Given the description of an element on the screen output the (x, y) to click on. 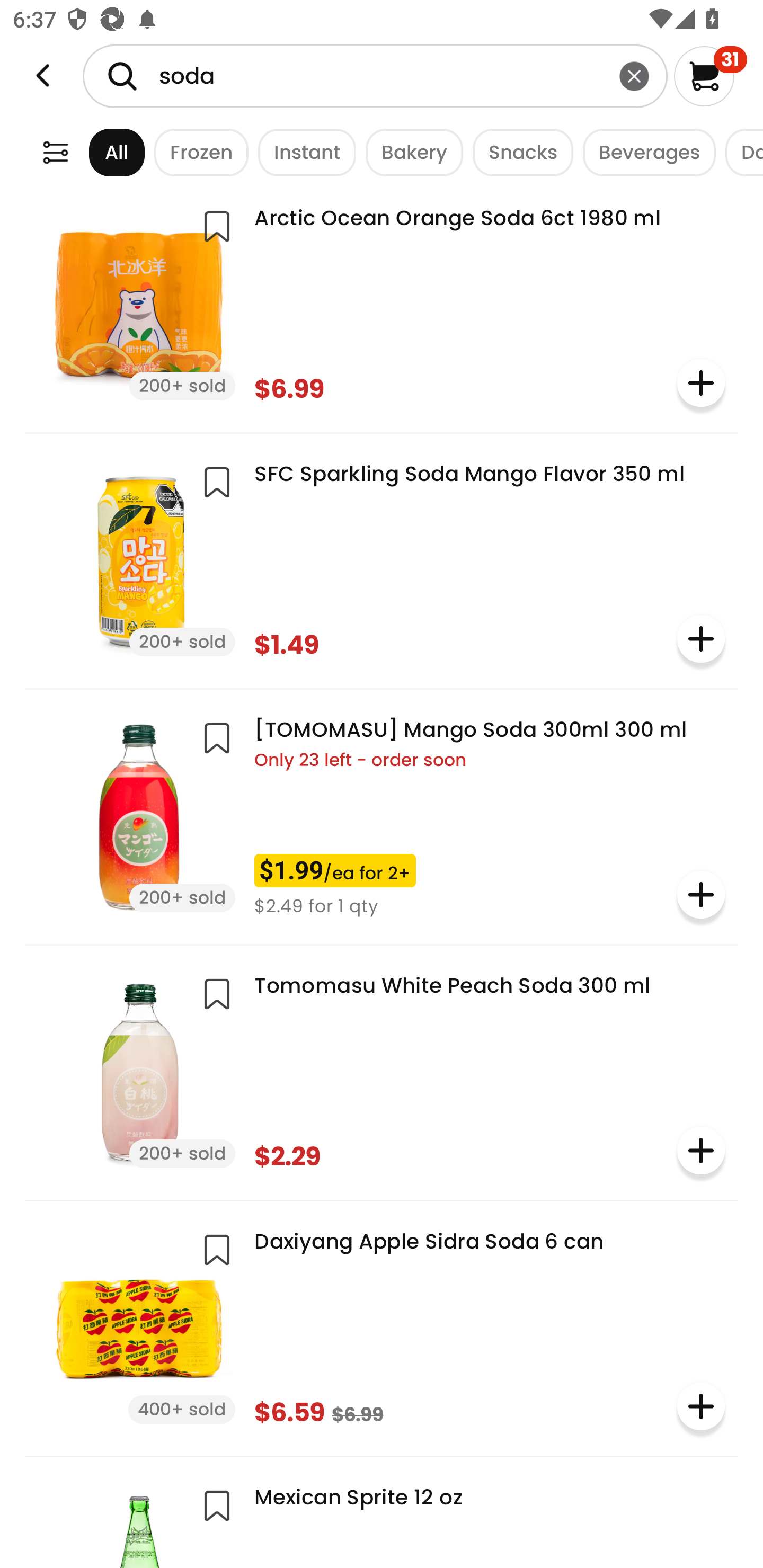
soda (374, 75)
31 (709, 75)
Weee! (42, 76)
Weee! (55, 151)
All (99, 151)
Frozen (196, 151)
Instant (302, 151)
Bakery (409, 151)
Snacks (518, 151)
Beverages (644, 151)
Tomomasu White Peach Soda 300 ml 200+ sold $2.29 (381, 1070)
Mexican Sprite 12 oz (381, 1519)
